Given the description of an element on the screen output the (x, y) to click on. 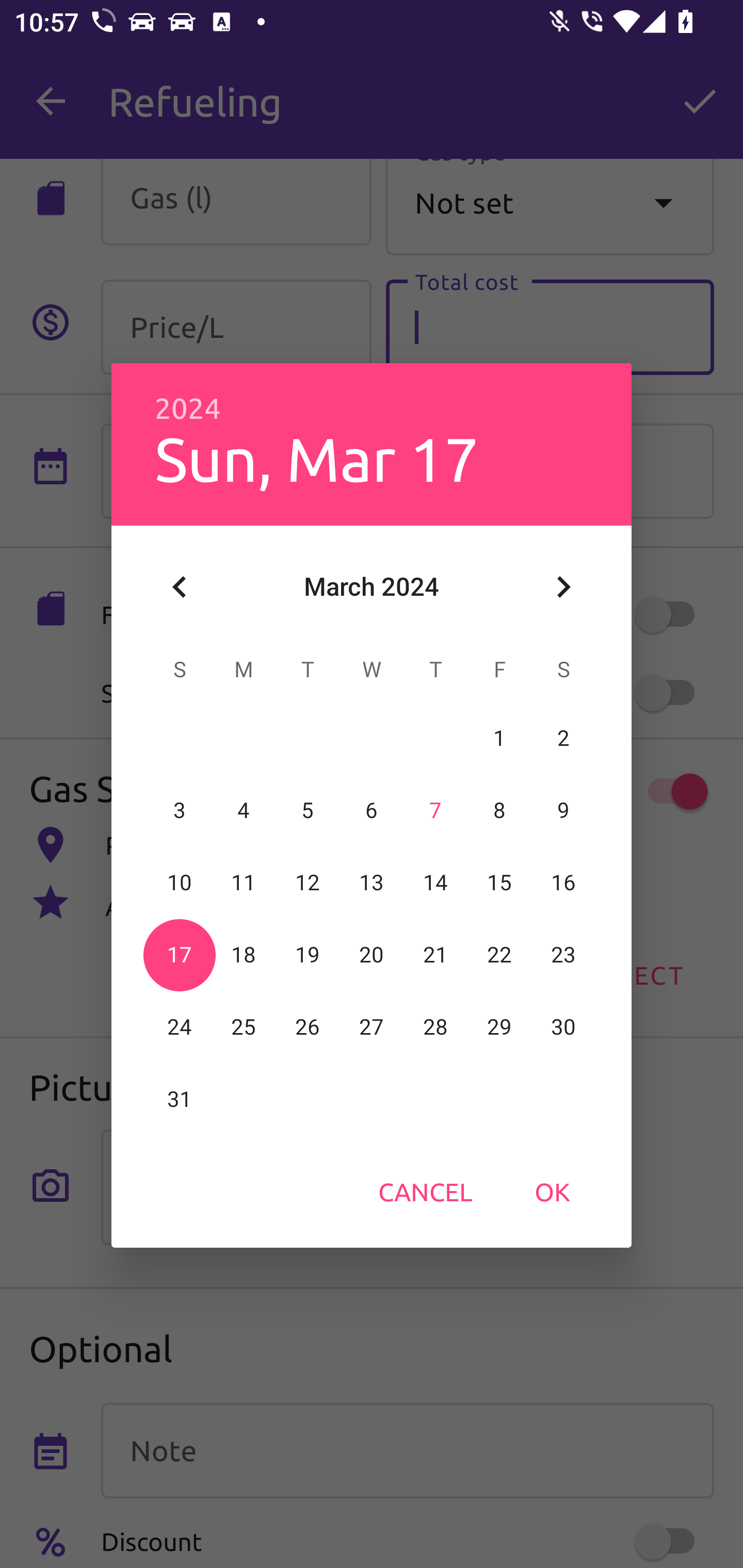
2024 (187, 408)
Sun, Mar 17 (316, 458)
Previous month (178, 587)
Next month (563, 587)
1 01 March 2024 (499, 738)
2 02 March 2024 (563, 738)
3 03 March 2024 (179, 810)
4 04 March 2024 (243, 810)
5 05 March 2024 (307, 810)
6 06 March 2024 (371, 810)
7 07 March 2024 (435, 810)
8 08 March 2024 (499, 810)
9 09 March 2024 (563, 810)
10 10 March 2024 (179, 882)
11 11 March 2024 (243, 882)
12 12 March 2024 (307, 882)
13 13 March 2024 (371, 882)
14 14 March 2024 (435, 882)
15 15 March 2024 (499, 882)
16 16 March 2024 (563, 882)
17 17 March 2024 (179, 954)
18 18 March 2024 (243, 954)
19 19 March 2024 (307, 954)
20 20 March 2024 (371, 954)
21 21 March 2024 (435, 954)
22 22 March 2024 (499, 954)
23 23 March 2024 (563, 954)
24 24 March 2024 (179, 1026)
25 25 March 2024 (243, 1026)
26 26 March 2024 (307, 1026)
27 27 March 2024 (371, 1026)
28 28 March 2024 (435, 1026)
29 29 March 2024 (499, 1026)
30 30 March 2024 (563, 1026)
31 31 March 2024 (179, 1099)
CANCEL (425, 1191)
OK (552, 1191)
